Given the description of an element on the screen output the (x, y) to click on. 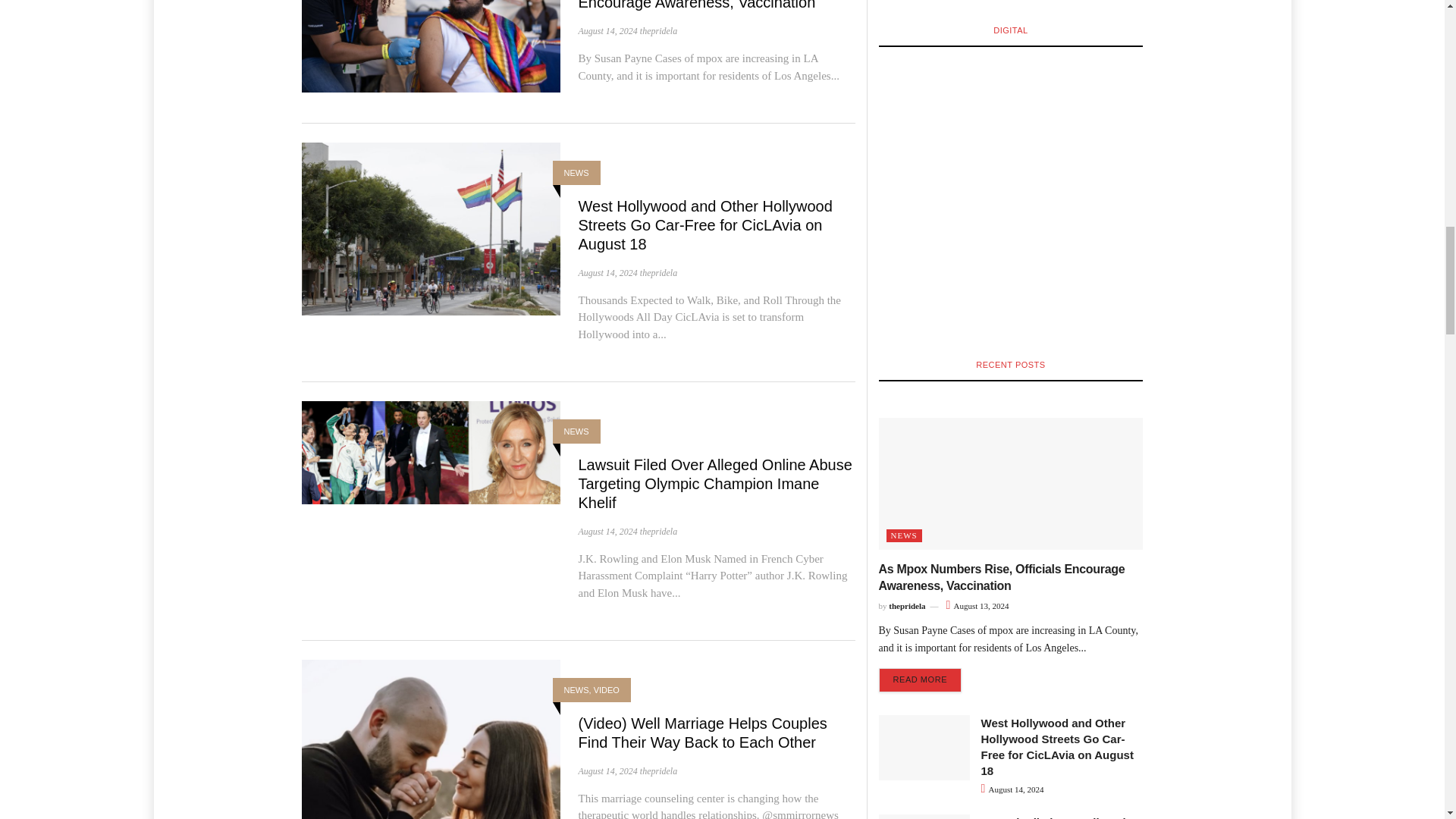
Posts by thepridela (658, 272)
Posts by thepridela (658, 531)
Posts by thepridela (658, 30)
